Given the description of an element on the screen output the (x, y) to click on. 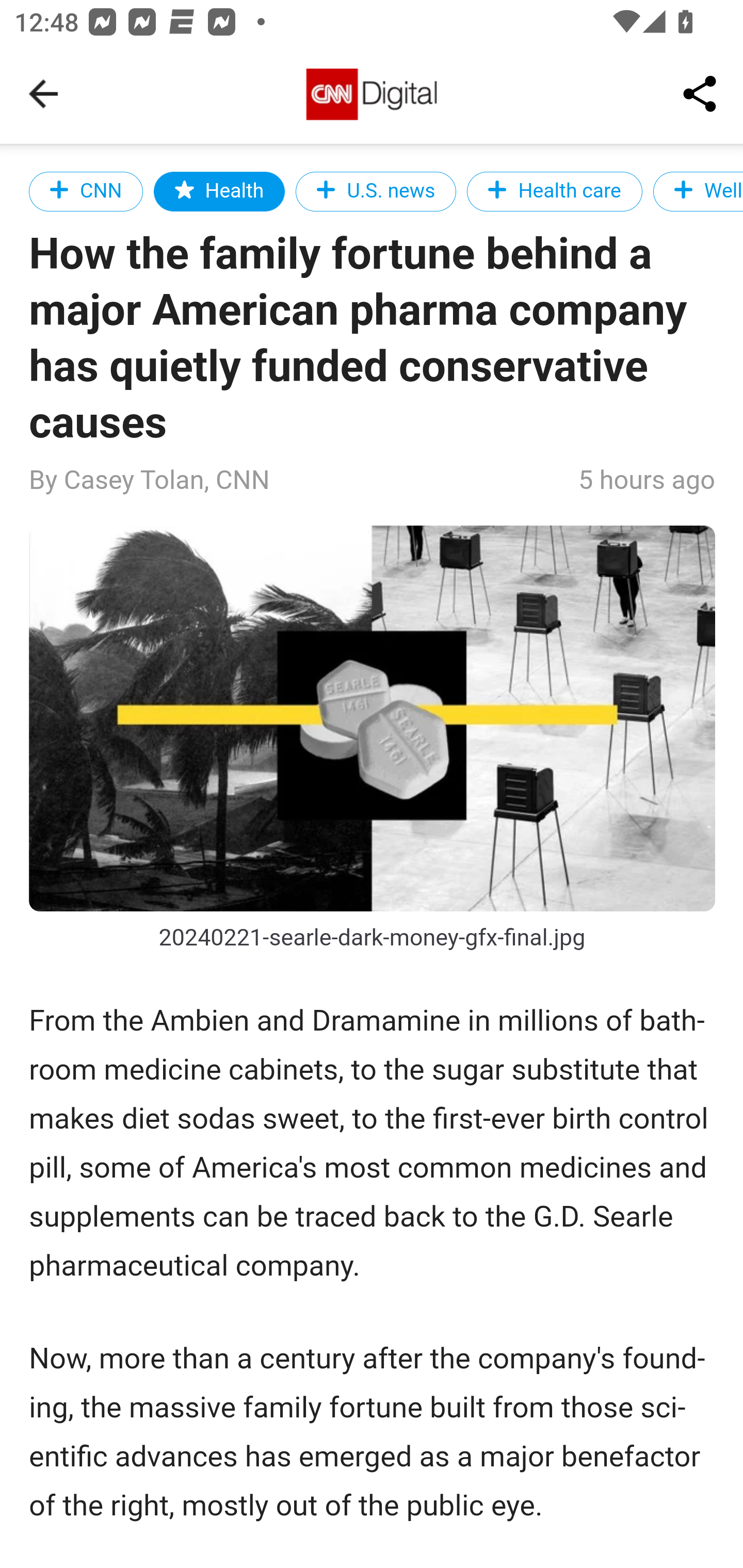
CNN (86, 191)
Health (219, 191)
U.S. news (375, 191)
Health care (553, 191)
